Given the description of an element on the screen output the (x, y) to click on. 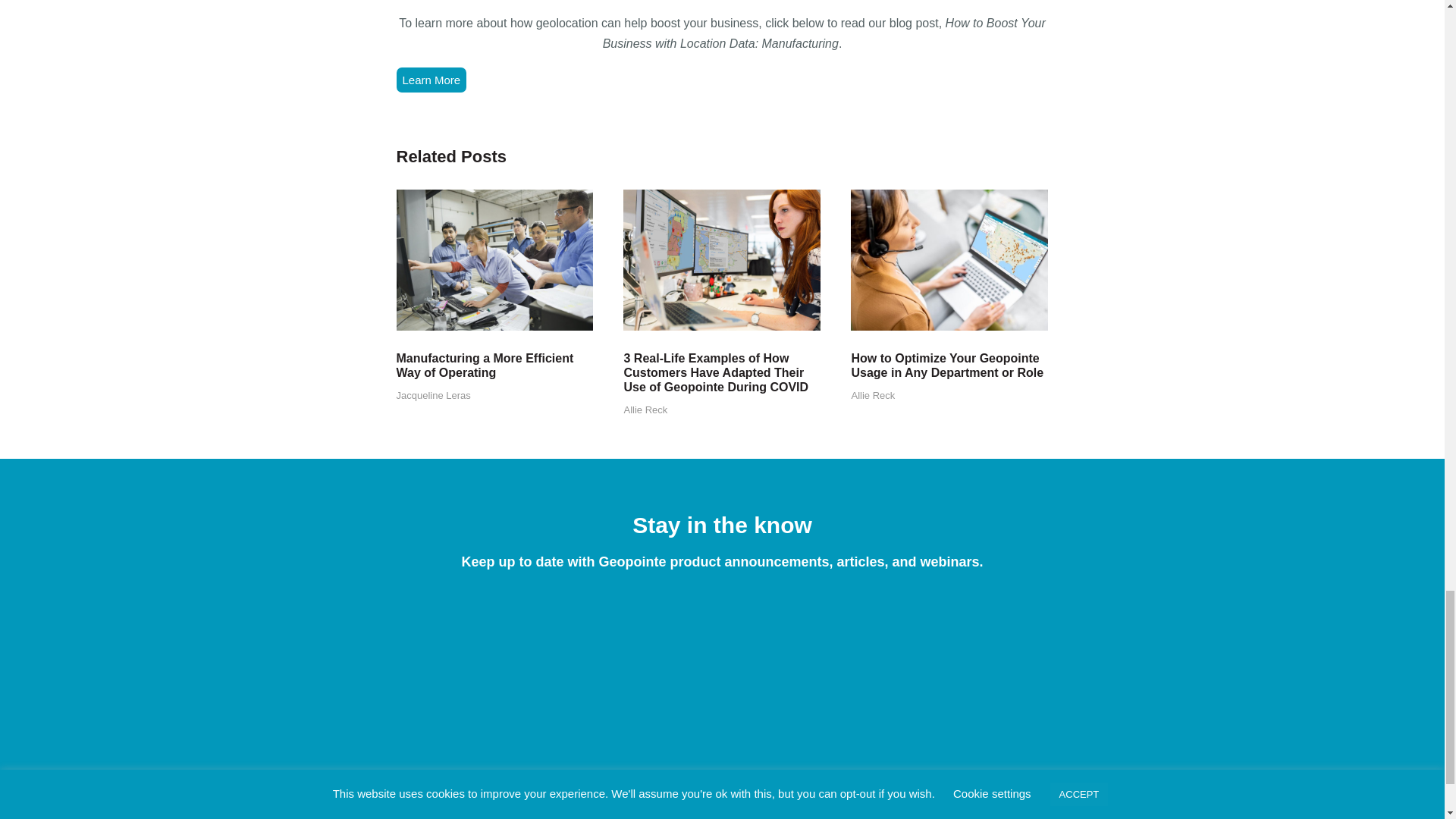
Blueprints-How-To-Use-GP-by-Dept.-Sized-Down (949, 259)
Posts by Jacqueline Leras (433, 395)
Posts by Allie Reck (644, 409)
Posts by Allie Reck (872, 395)
Workers meeting in manufacturing plant (494, 259)
Join our Mailing List - Email Only (722, 679)
Geopointe geoanalytics territory management data aggregation (722, 259)
